Given the description of an element on the screen output the (x, y) to click on. 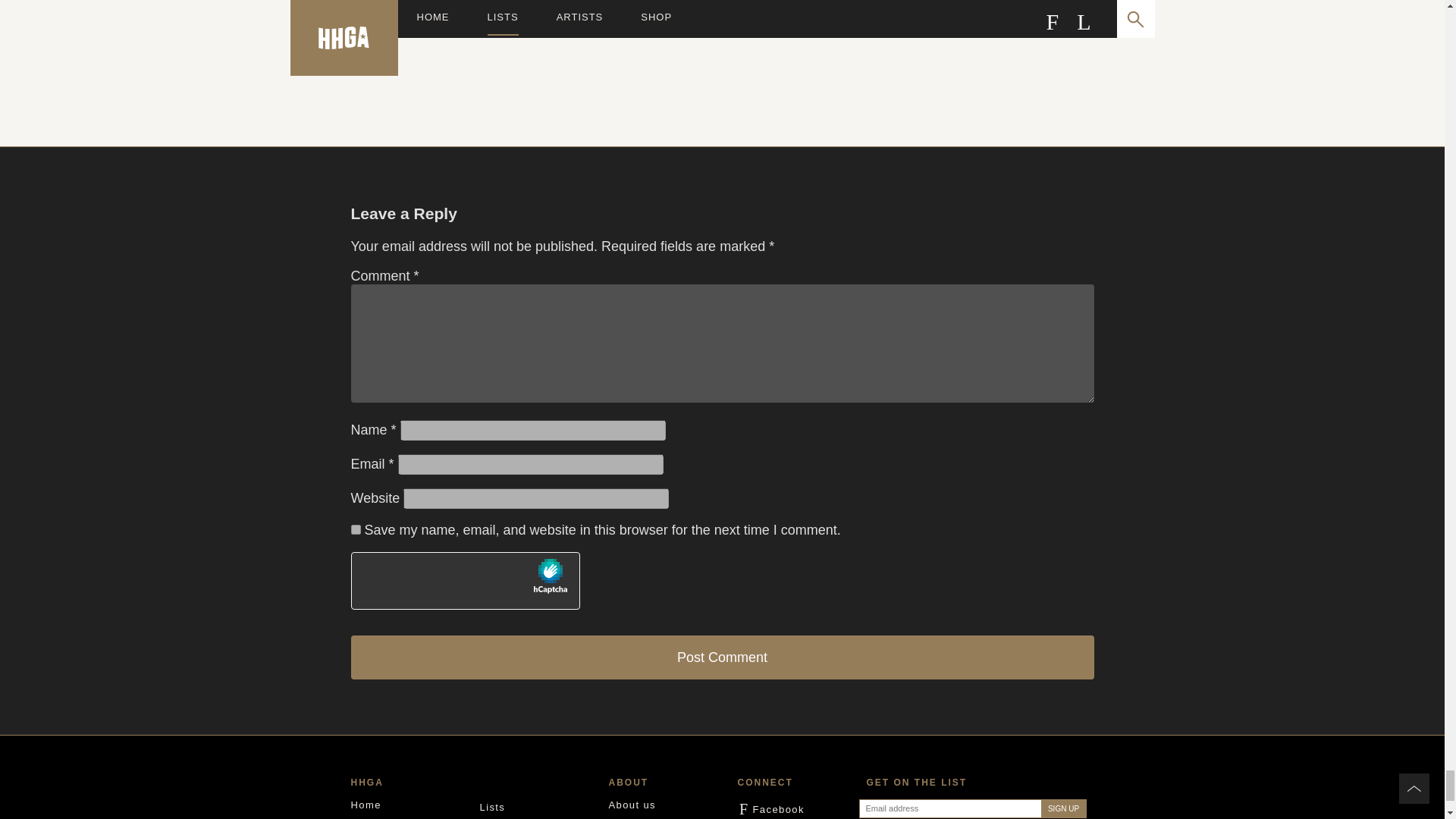
Sign up (468, 48)
yes (1063, 808)
Post Comment (354, 529)
